Given the description of an element on the screen output the (x, y) to click on. 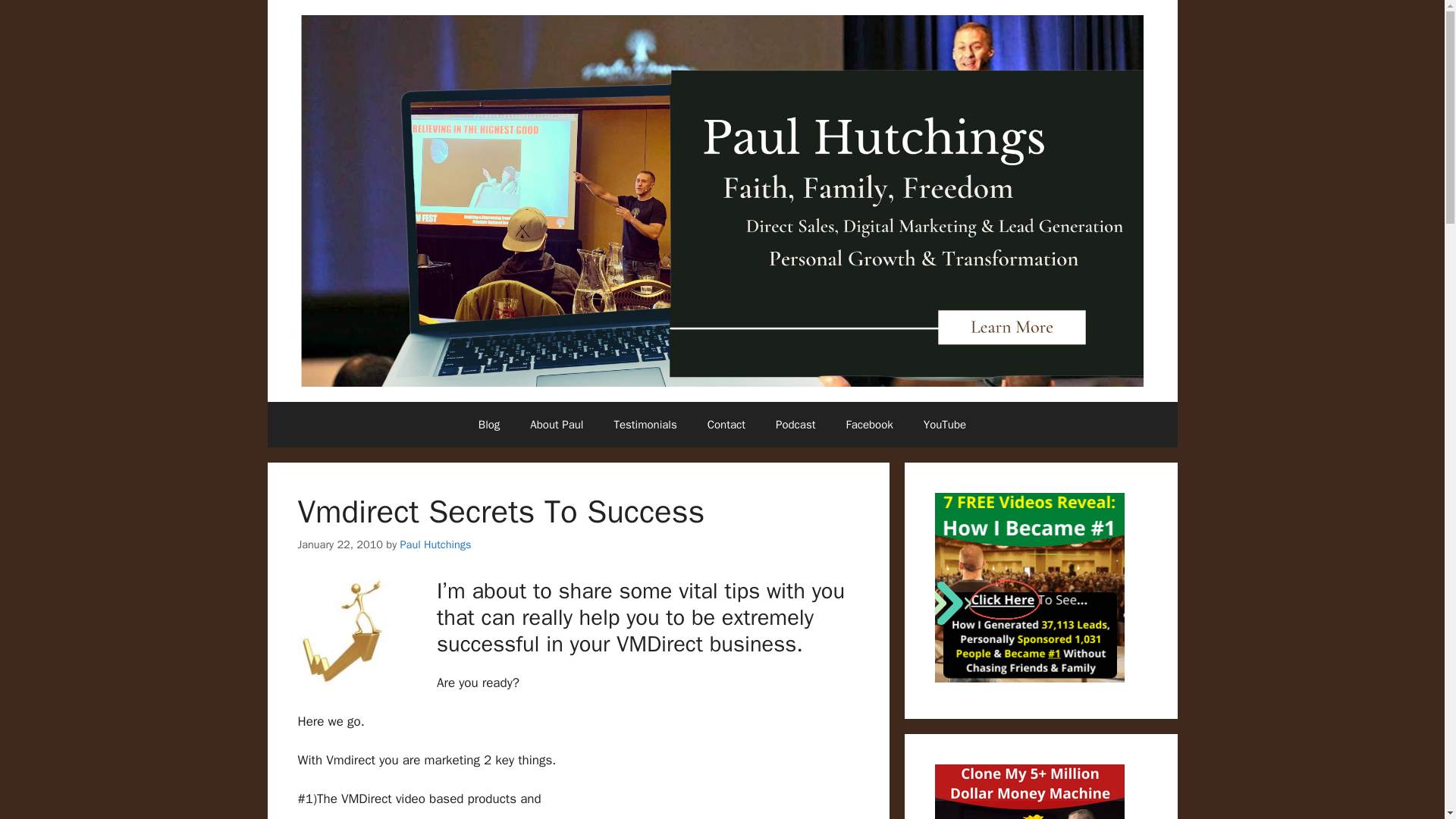
View all posts by Paul Hutchings (435, 544)
Blog (489, 424)
Contact (726, 424)
Testimonials (644, 424)
Facebook (868, 424)
About Paul (556, 424)
Paul Hutchings (435, 544)
vmdirect (350, 631)
Podcast (794, 424)
YouTube (944, 424)
